Given the description of an element on the screen output the (x, y) to click on. 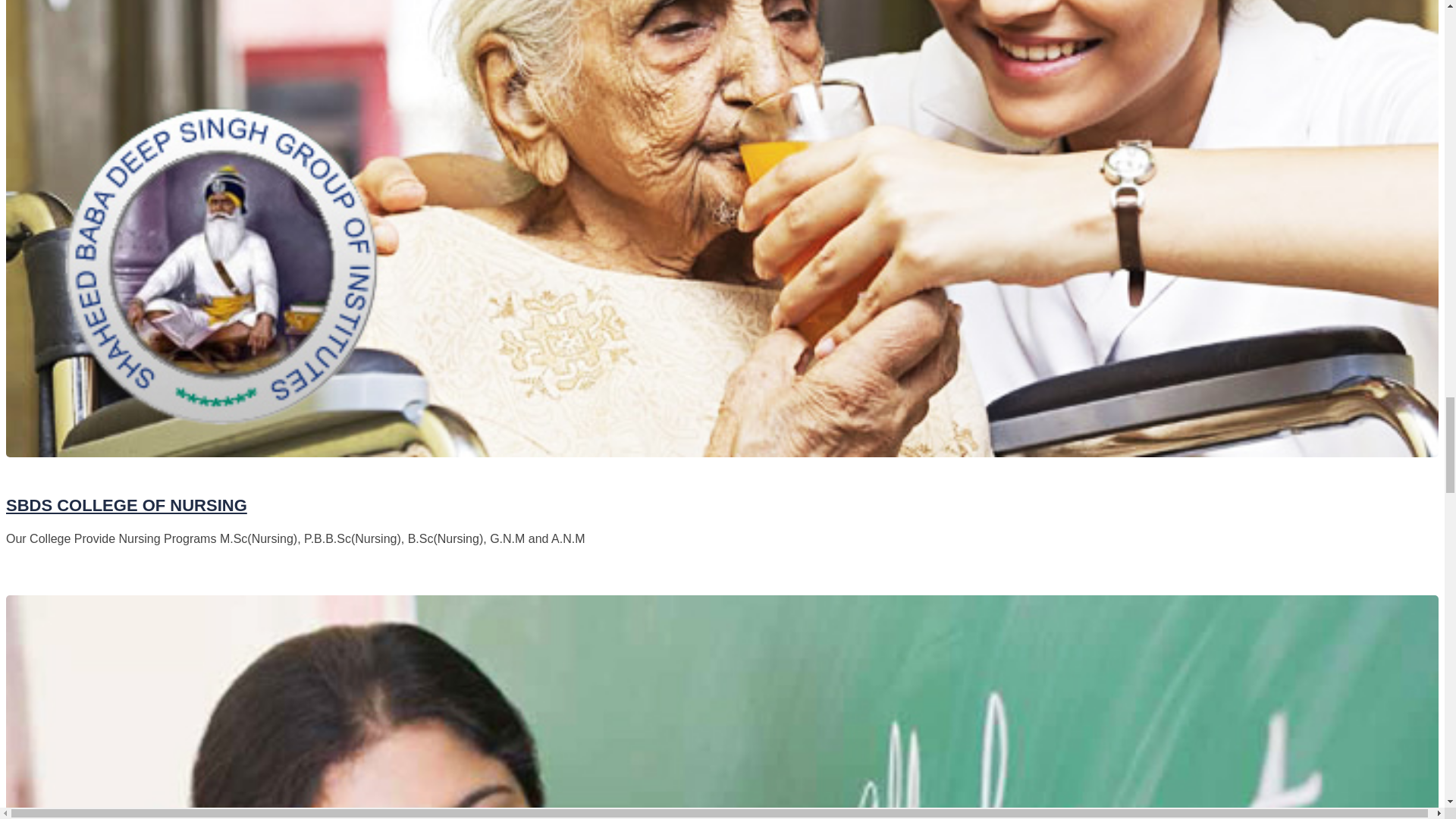
SBDS COLLEGE OF NURSING (126, 505)
